Given the description of an element on the screen output the (x, y) to click on. 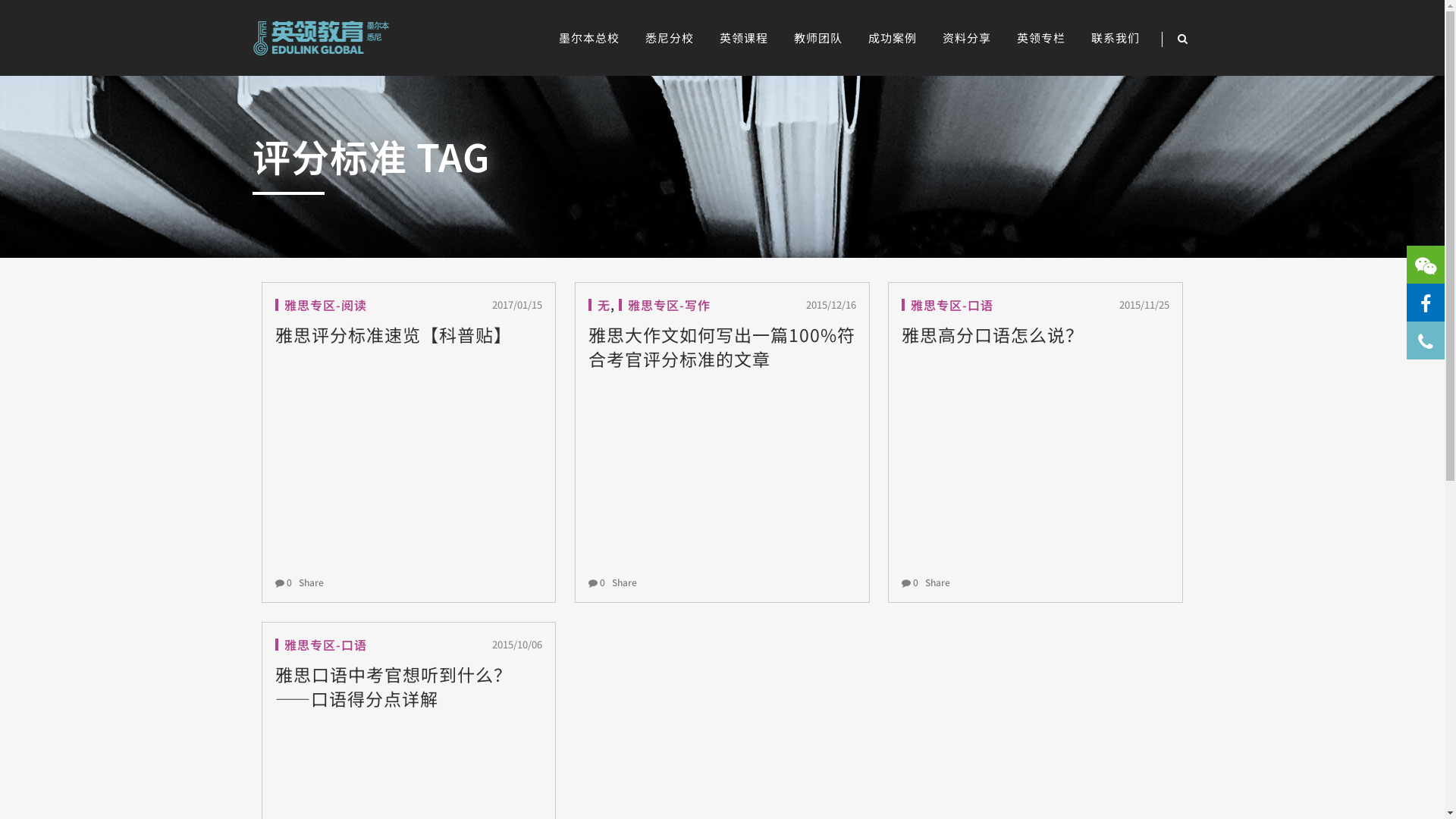
Share Element type: text (309, 581)
0 Element type: text (597, 581)
0 Element type: text (910, 581)
0 Element type: text (284, 581)
Share Element type: text (936, 581)
Share Element type: text (623, 581)
